Given the description of an element on the screen output the (x, y) to click on. 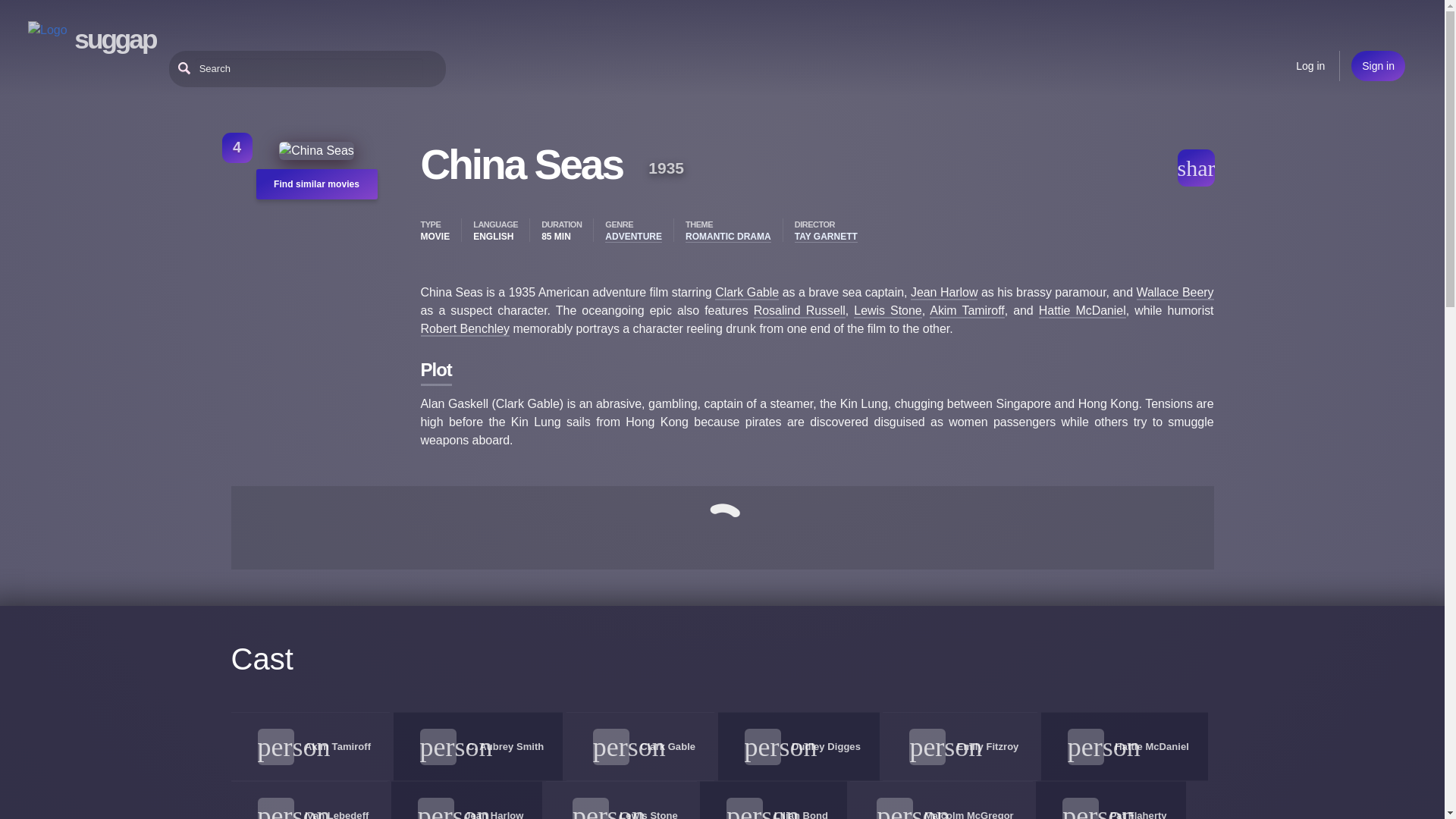
share (1195, 166)
Ivan Lebedeff (336, 814)
Hattie McDaniel (1152, 746)
Lilian Bond (801, 814)
Clark Gable (667, 746)
Pat Flaherty (1138, 814)
C. Aubrey Smith (505, 746)
TAY GARNETT (825, 236)
Akim Tamiroff (967, 310)
Jean Harlow (493, 814)
